Given the description of an element on the screen output the (x, y) to click on. 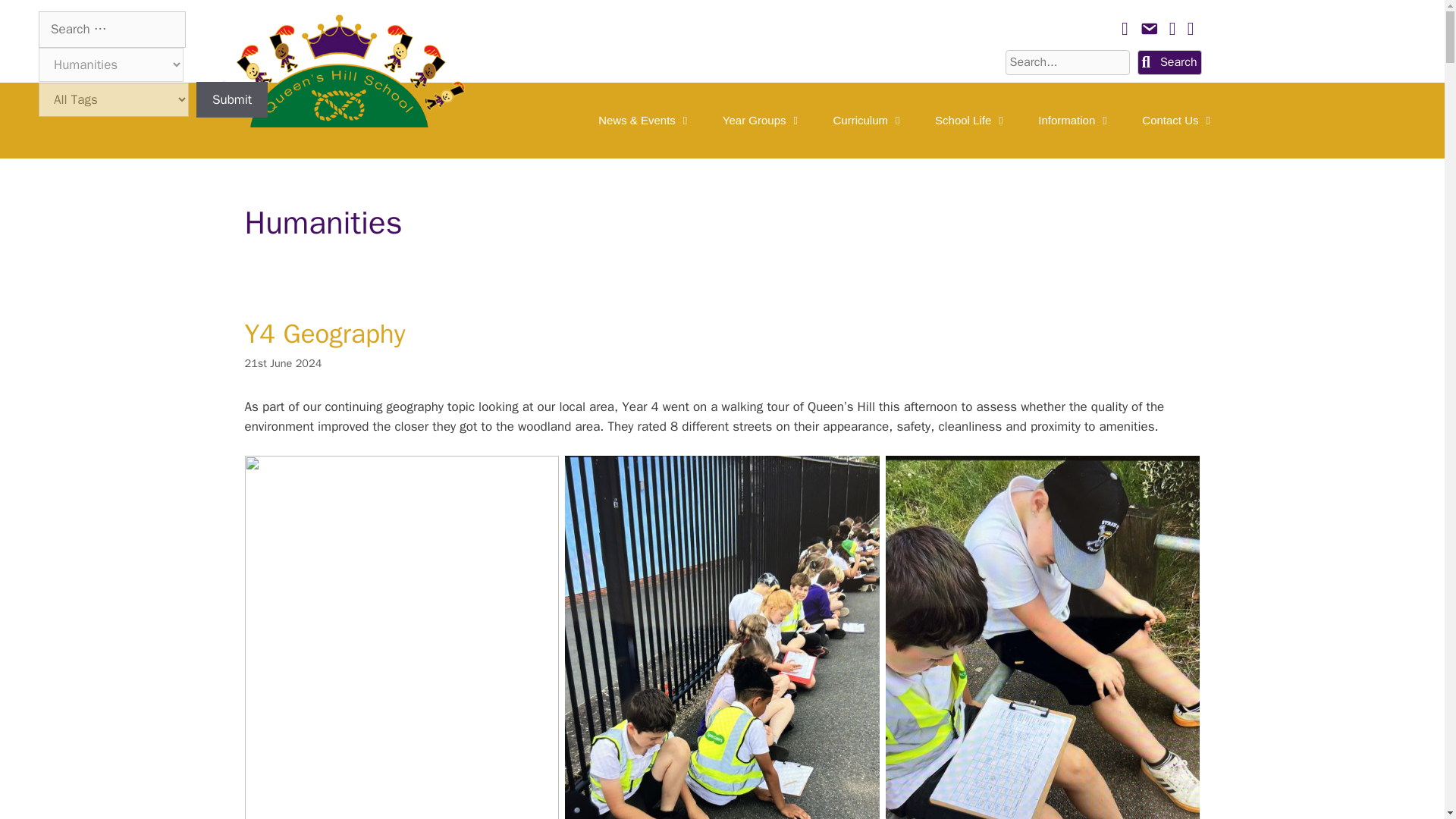
Year Groups (762, 120)
Search (1169, 62)
Curriculum (869, 120)
Submit (231, 99)
